Given the description of an element on the screen output the (x, y) to click on. 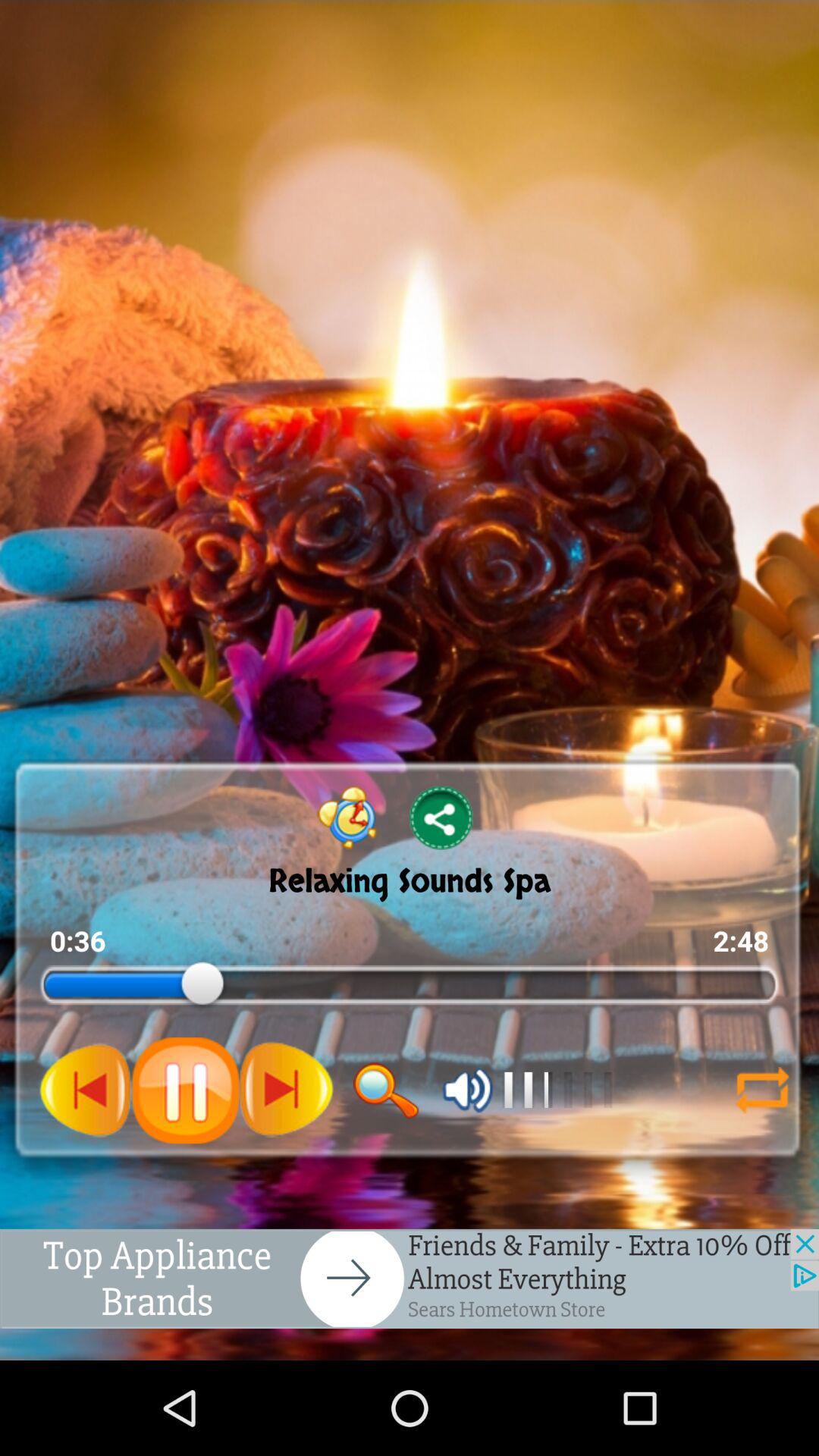
this icon is used to search the song (386, 1090)
